Given the description of an element on the screen output the (x, y) to click on. 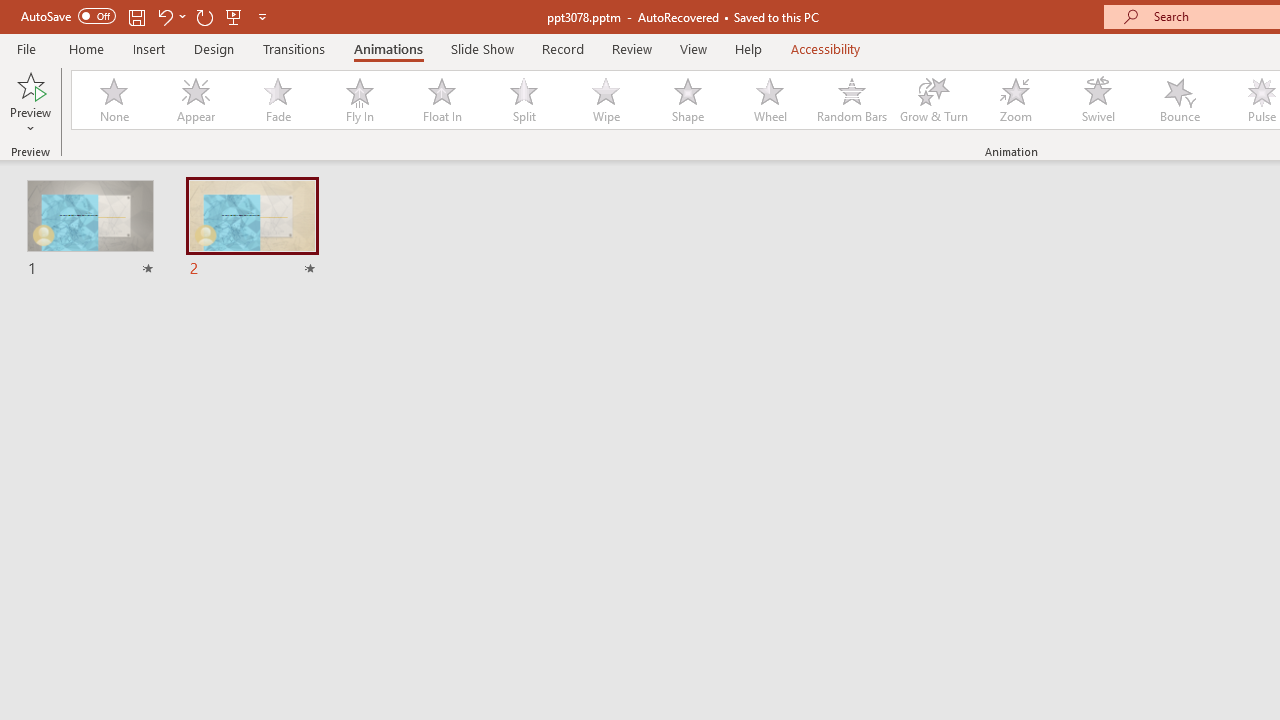
Random Bars (852, 100)
Float In (441, 100)
Wheel (770, 100)
Wipe (605, 100)
